Given the description of an element on the screen output the (x, y) to click on. 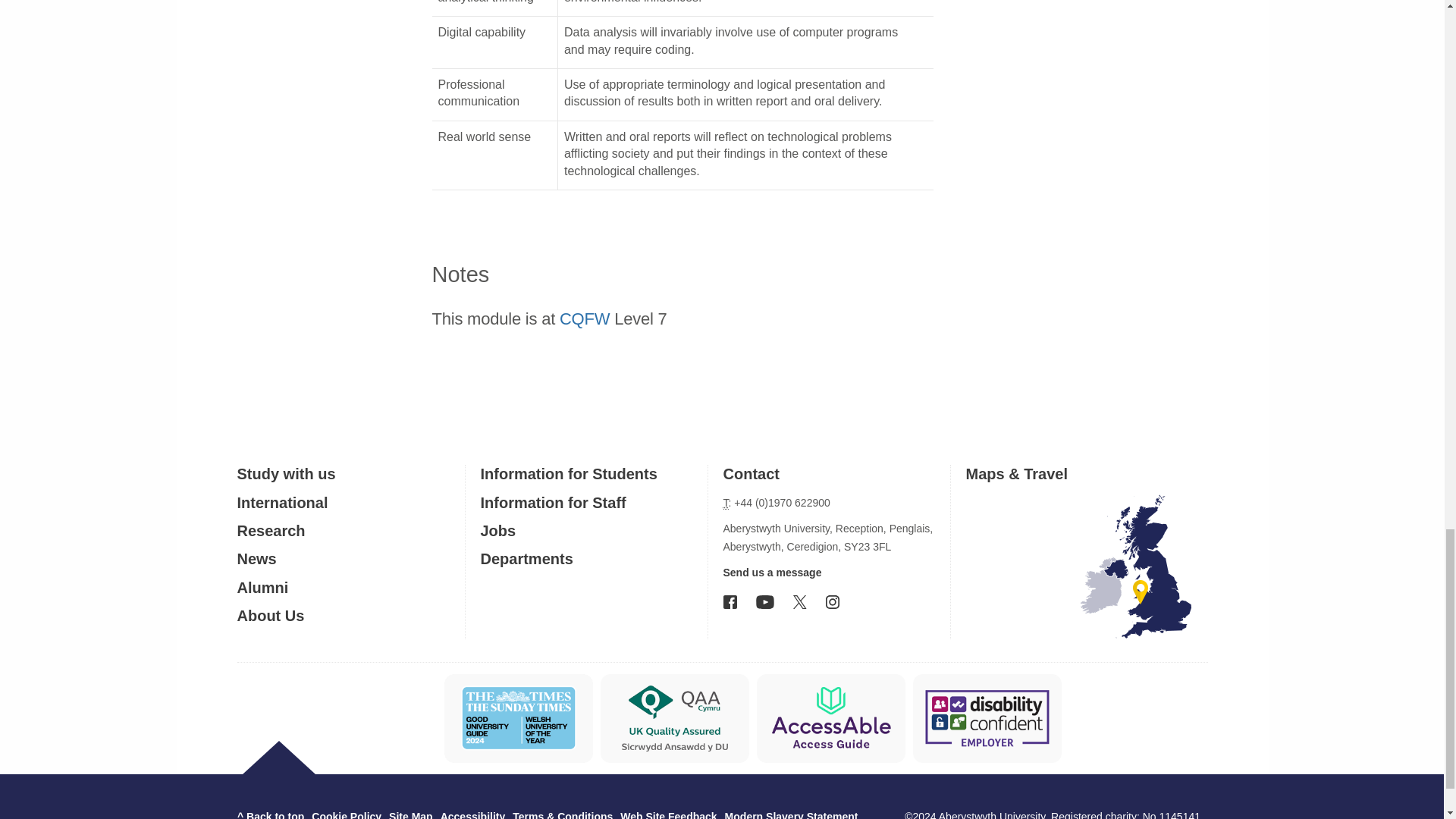
Accessibility information (473, 814)
Send us feedback on this web site. (668, 814)
Cookie Policy (346, 814)
Modern Slavery Statement (792, 814)
A text map of this web site. (410, 814)
